Given the description of an element on the screen output the (x, y) to click on. 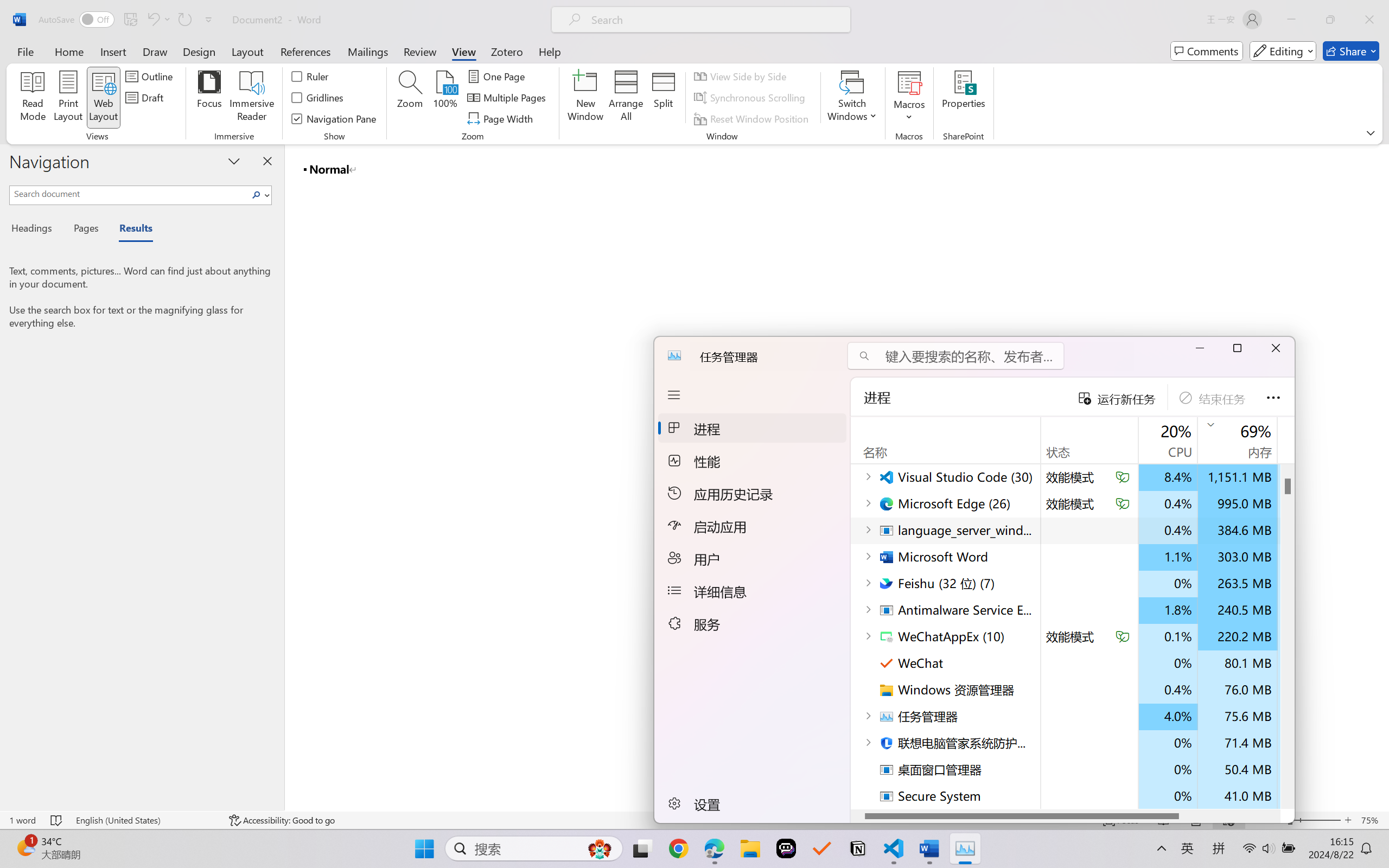
Microsoft search (715, 19)
AutomationID: BadgeAnchorLargeTicker (24, 847)
Spelling and Grammar Check No Errors (56, 819)
Pages (85, 229)
Ruler (309, 75)
Mailings (367, 51)
Focus (209, 97)
Notion (857, 848)
